Given the description of an element on the screen output the (x, y) to click on. 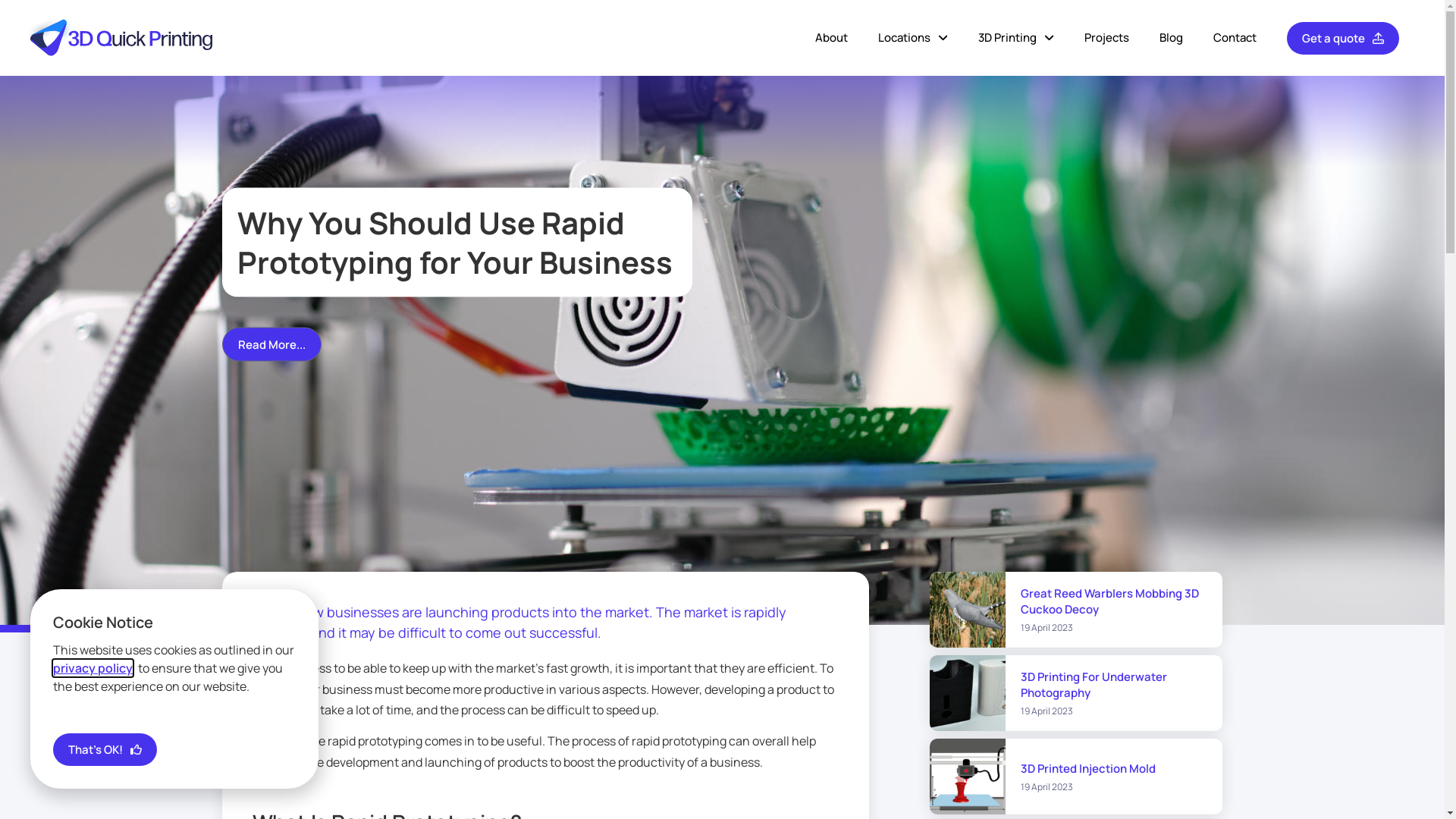
Blog Element type: text (1171, 37)
That's OK! Element type: text (104, 749)
Get a quote Element type: text (1342, 37)
Contact Element type: text (1234, 37)
Projects Element type: text (1106, 37)
3D Printing For Underwater Photography Element type: text (1093, 684)
3D Printed Injection Mold Element type: text (1087, 768)
About Element type: text (831, 37)
Locations Element type: text (912, 37)
Great Reed Warblers Mobbing 3D Cuckoo Decoy Element type: text (1109, 601)
privacy policy Element type: text (92, 667)
Read More... Element type: text (270, 343)
3D Printing Element type: text (1016, 37)
